Given the description of an element on the screen output the (x, y) to click on. 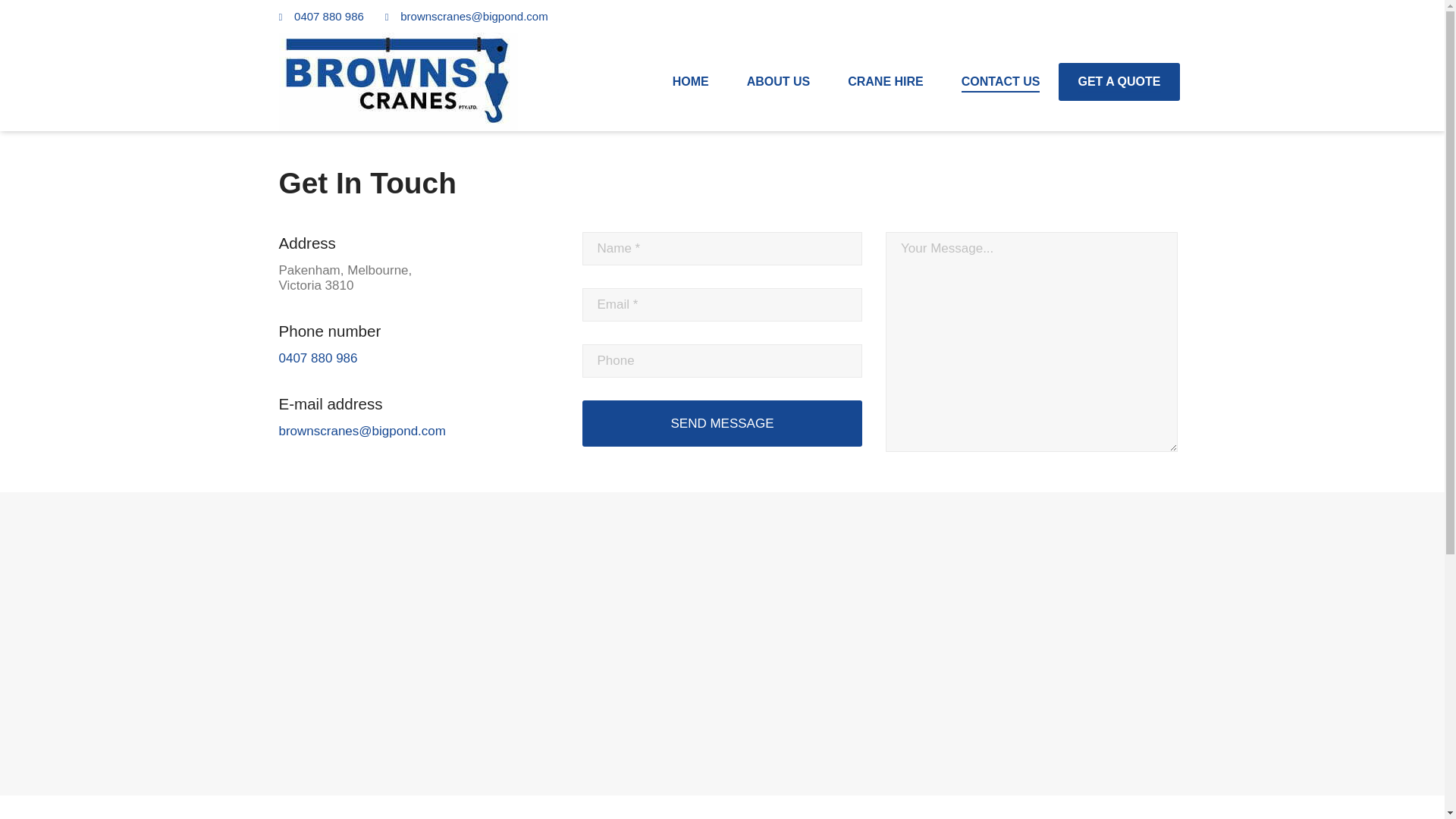
ABOUT US Element type: text (778, 81)
0407 880 986 Element type: text (329, 15)
SEND MESSAGE Element type: text (722, 423)
CRANE HIRE Element type: text (885, 81)
HOME Element type: text (690, 81)
brownscranes@bigpond.com Element type: text (362, 430)
GET A QUOTE Element type: text (1118, 81)
brownscranes@bigpond.com Element type: text (474, 15)
CONTACT US Element type: text (1000, 81)
0407 880 986 Element type: text (318, 358)
